Given the description of an element on the screen output the (x, y) to click on. 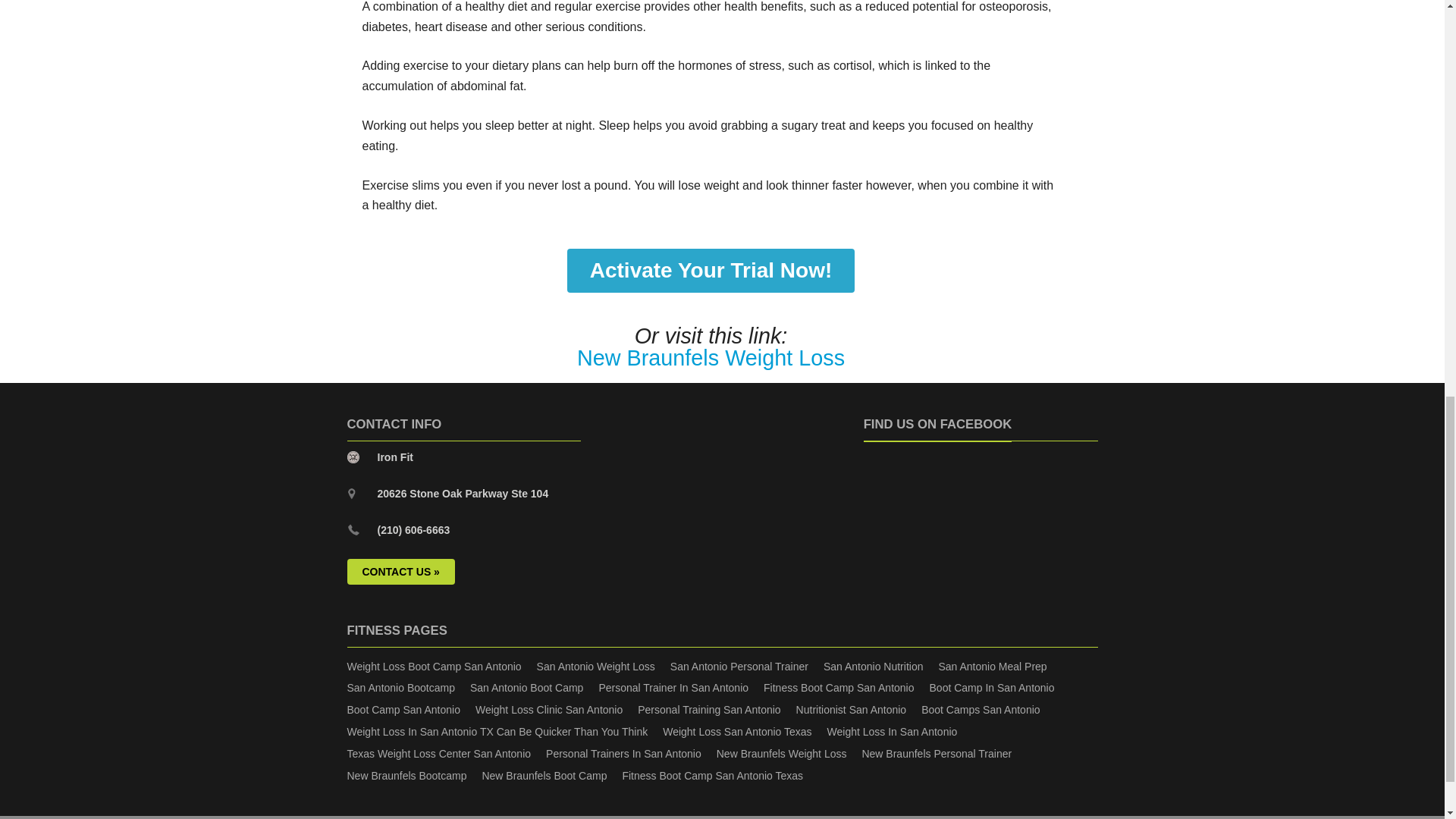
New Braunfels Weight Loss (710, 357)
Personal Training San Antonio (708, 709)
Activate Your Trial Now! (710, 270)
San Antonio Personal Trainer (738, 666)
San Antonio Bootcamp (400, 687)
Weight Loss Boot Camp San Antonio (434, 666)
Personal Trainers In San Antonio (623, 753)
Boot Camp In San Antonio (992, 687)
Nutritionist San Antonio (851, 709)
San Antonio Weight Loss (596, 666)
San Antonio Nutrition (873, 666)
San Antonio Meal Prep (991, 666)
Boot Camp San Antonio (403, 709)
New Braunfels Weight Loss (710, 357)
Boot Camps San Antonio (980, 709)
